Given the description of an element on the screen output the (x, y) to click on. 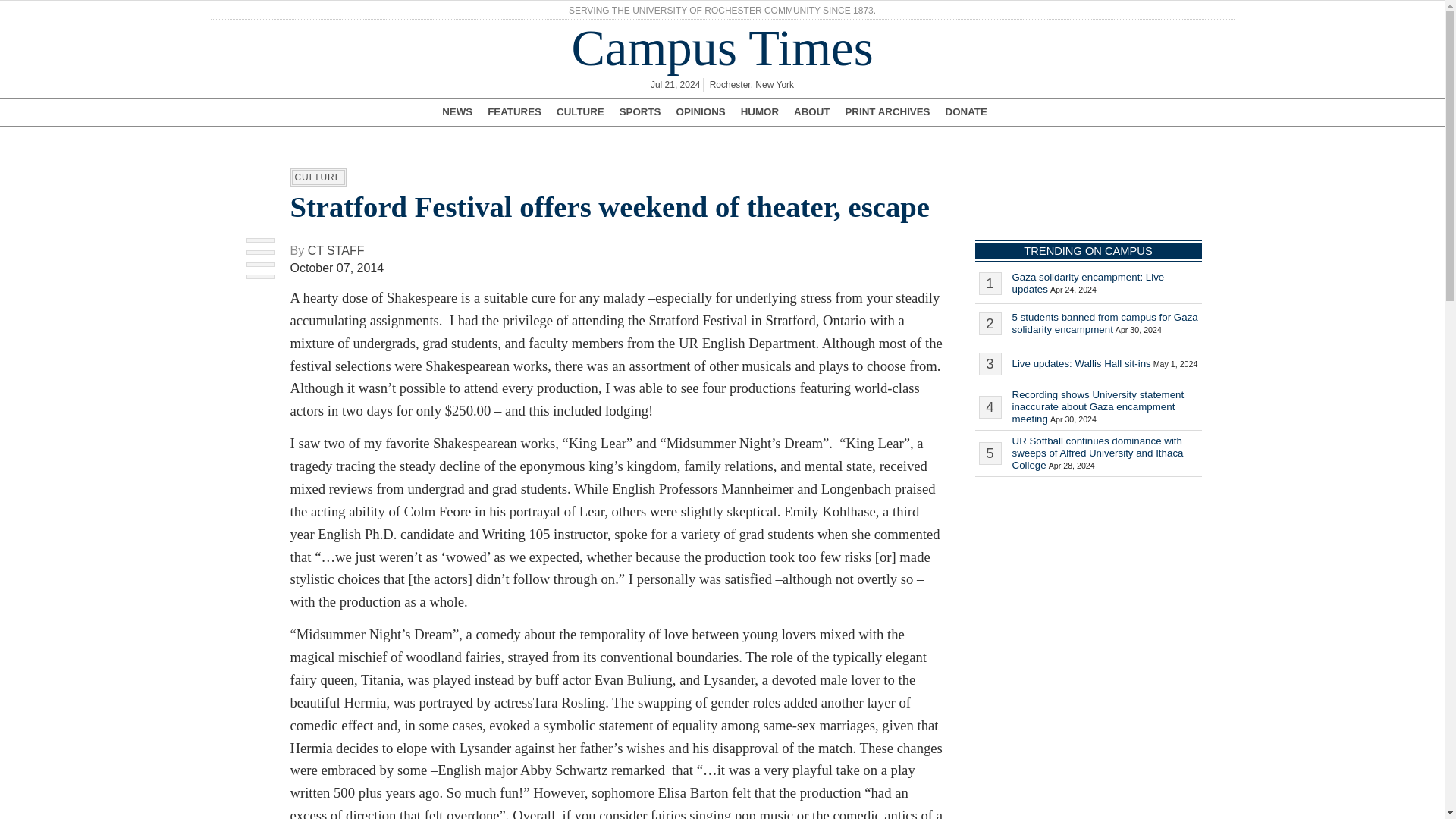
DONATE (965, 111)
HUMOR (759, 111)
FEATURES (514, 111)
NEWS (456, 111)
OPINIONS (701, 111)
Campus Times (722, 48)
PRINT ARCHIVES (887, 111)
CULTURE (580, 111)
ABOUT (811, 111)
SPORTS (640, 111)
SERVING THE UNIVERSITY OF ROCHESTER COMMUNITY SINCE 1873. (722, 10)
